Given the description of an element on the screen output the (x, y) to click on. 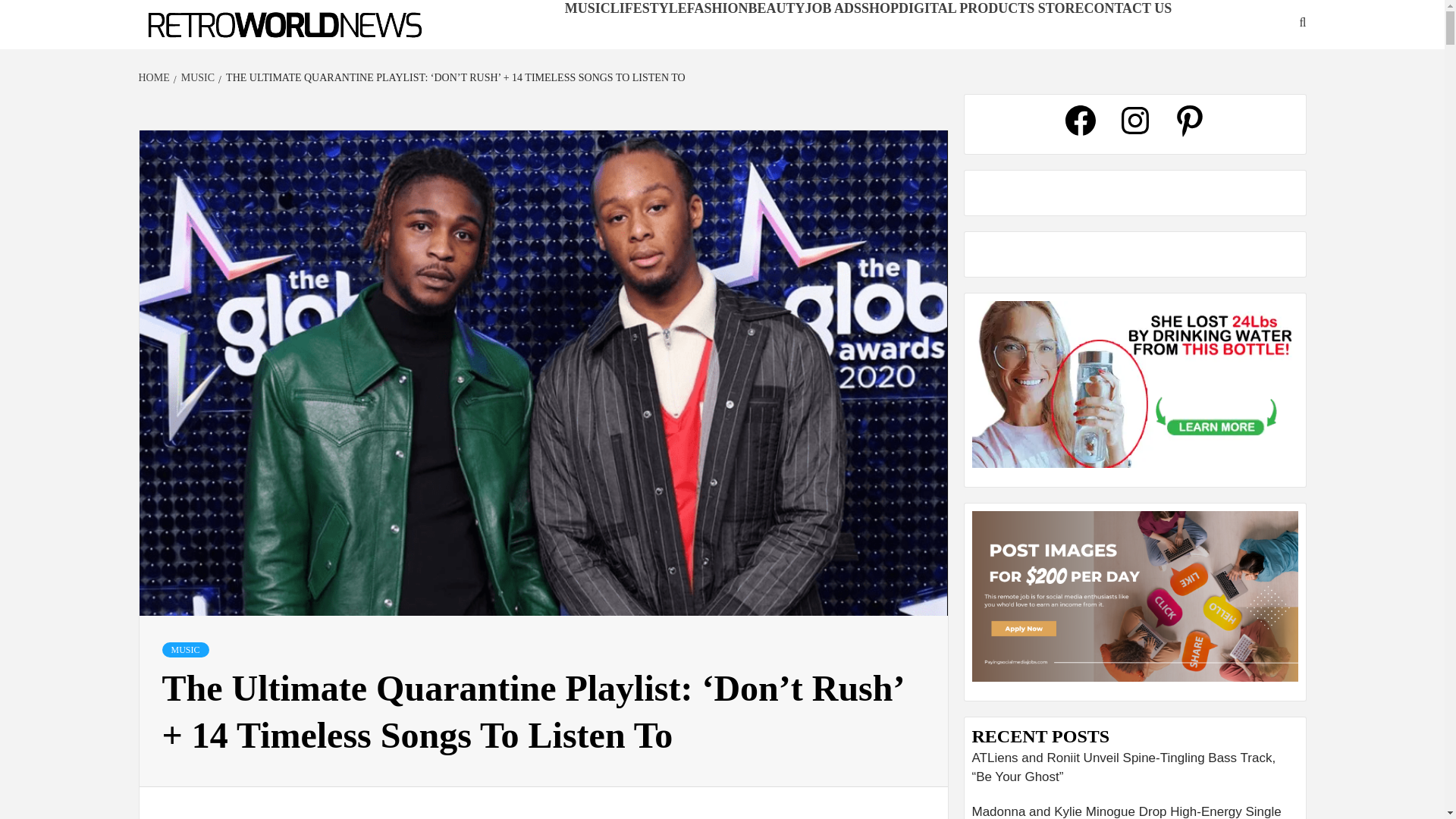
MUSIC (195, 77)
SHOP (879, 7)
LIFESTYLE (648, 7)
JOB ADS (833, 7)
RETROWORLDNEWS (223, 48)
MUSIC (185, 649)
DIGITAL PRODUCTS STORE (990, 7)
HOME (155, 77)
MUSIC (587, 7)
FASHION (717, 7)
